Given the description of an element on the screen output the (x, y) to click on. 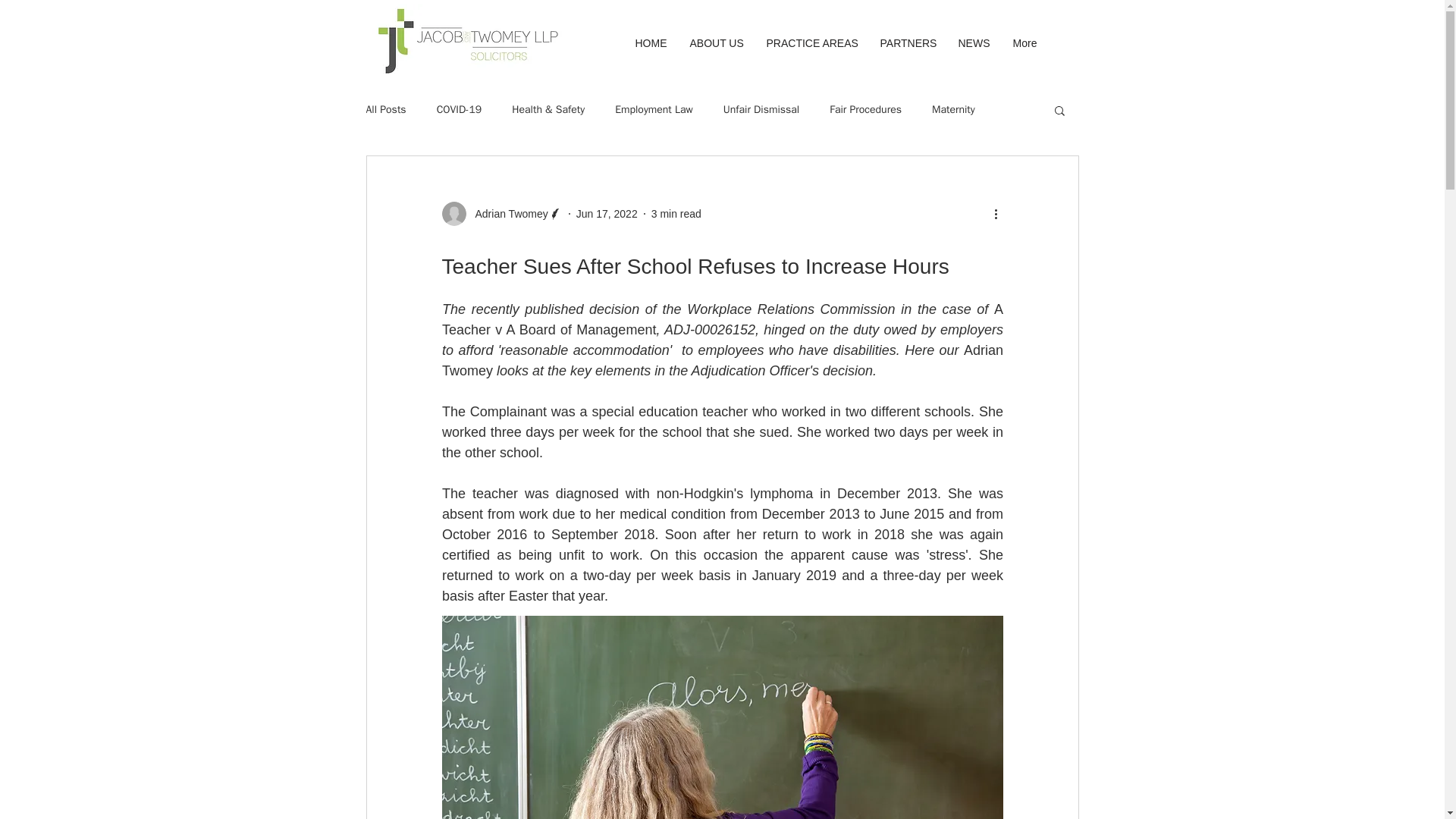
PRACTICE AREAS (812, 43)
Adrian Twomey (506, 213)
3 min read (675, 214)
COVID-19 (458, 110)
Maternity (953, 110)
Unfair Dismissal (761, 110)
NEWS (973, 43)
ABOUT US (716, 43)
Fair Procedures (865, 110)
Adrian Twomey (501, 213)
HOME (650, 43)
PARTNERS (908, 43)
Employment Law (653, 110)
Jun 17, 2022 (606, 214)
Jacob and Twomey LLP Logo (465, 41)
